Given the description of an element on the screen output the (x, y) to click on. 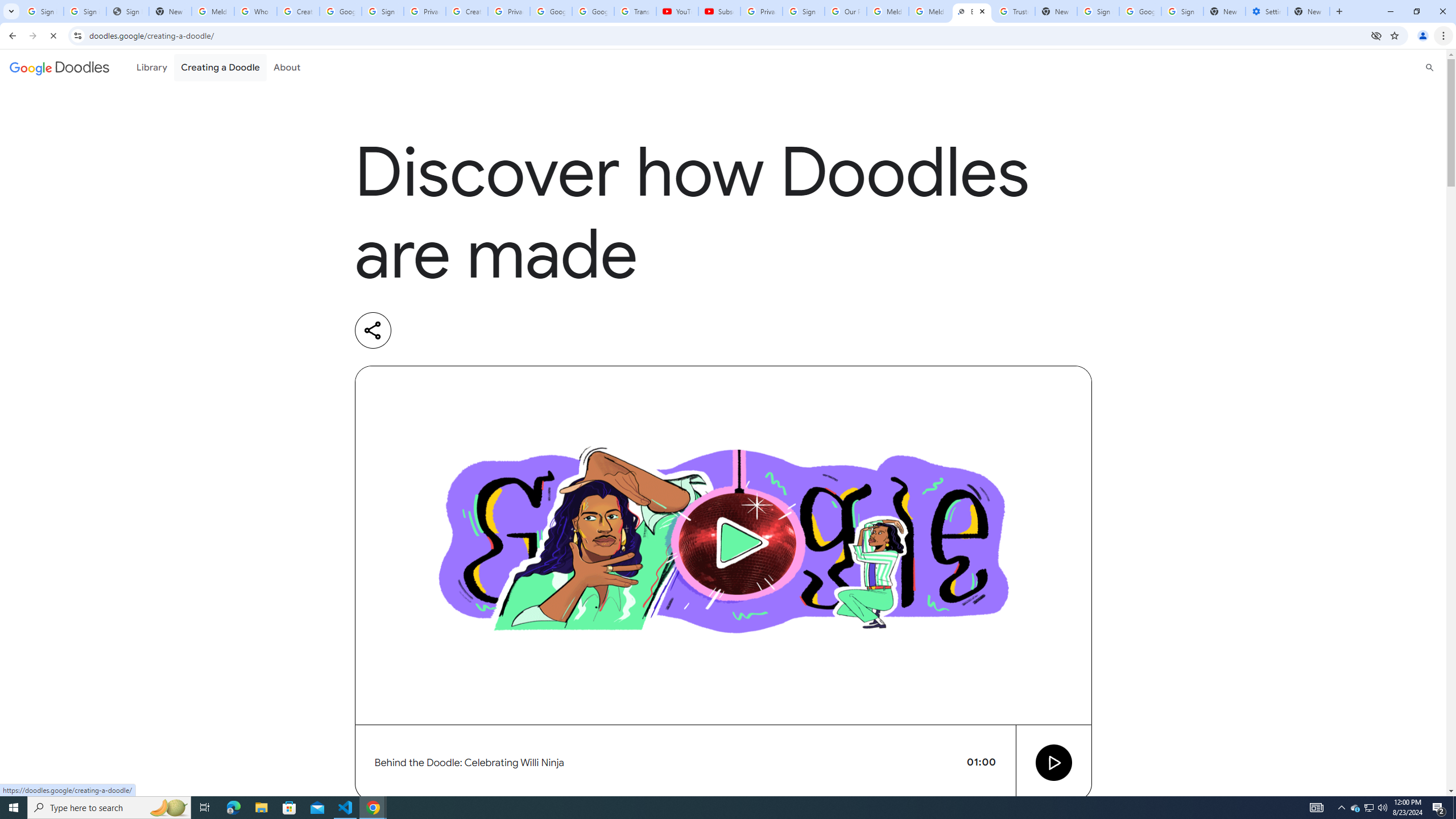
Trusted Information and Content - Google Safety Center (1013, 11)
Explore the Process of Creating a Doodle - Google Doodles (972, 11)
Settings - Addresses and more (1266, 11)
About (286, 67)
